Given the description of an element on the screen output the (x, y) to click on. 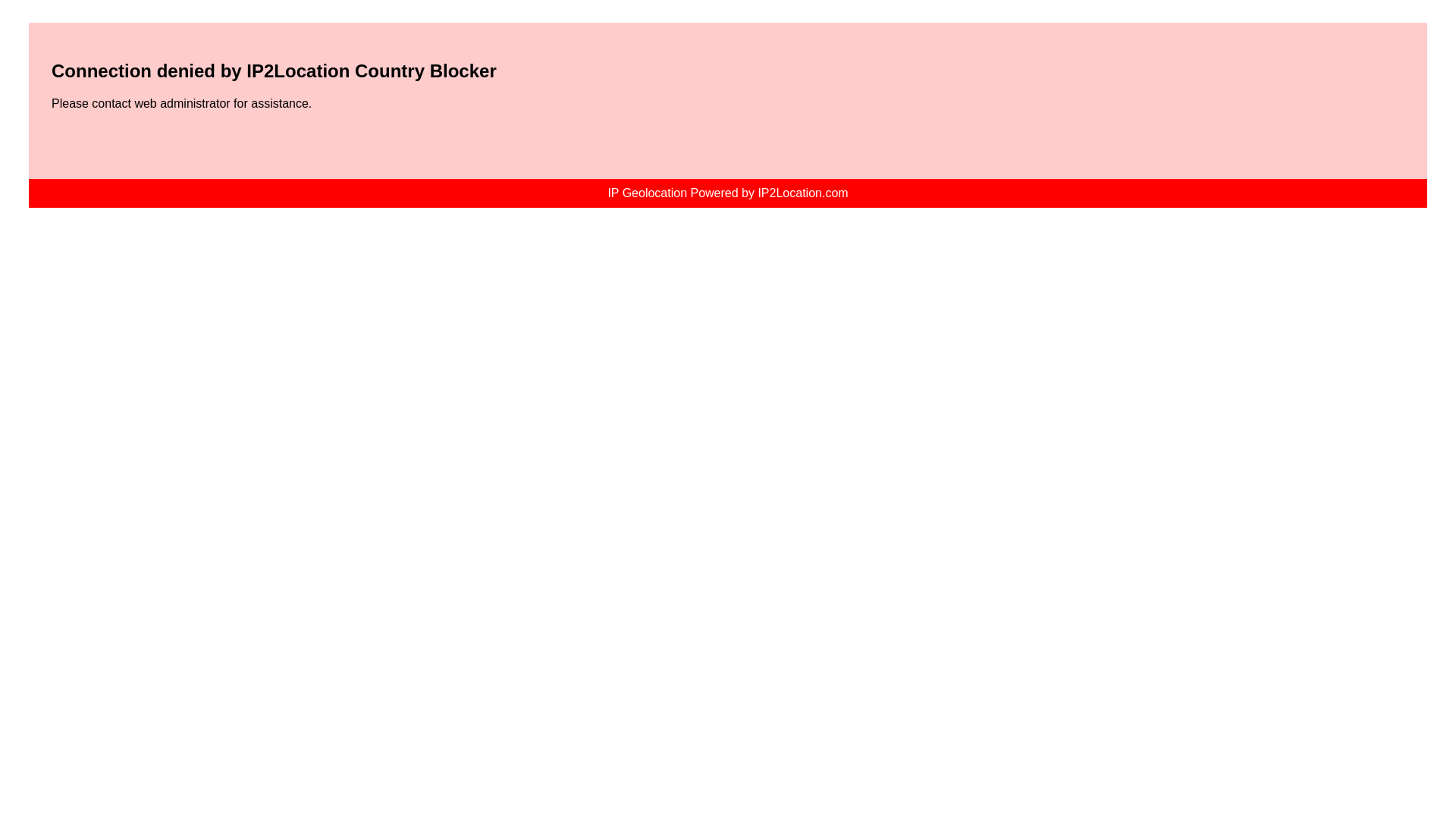
IP Geolocation Powered by IP2Location.com (727, 192)
